Given the description of an element on the screen output the (x, y) to click on. 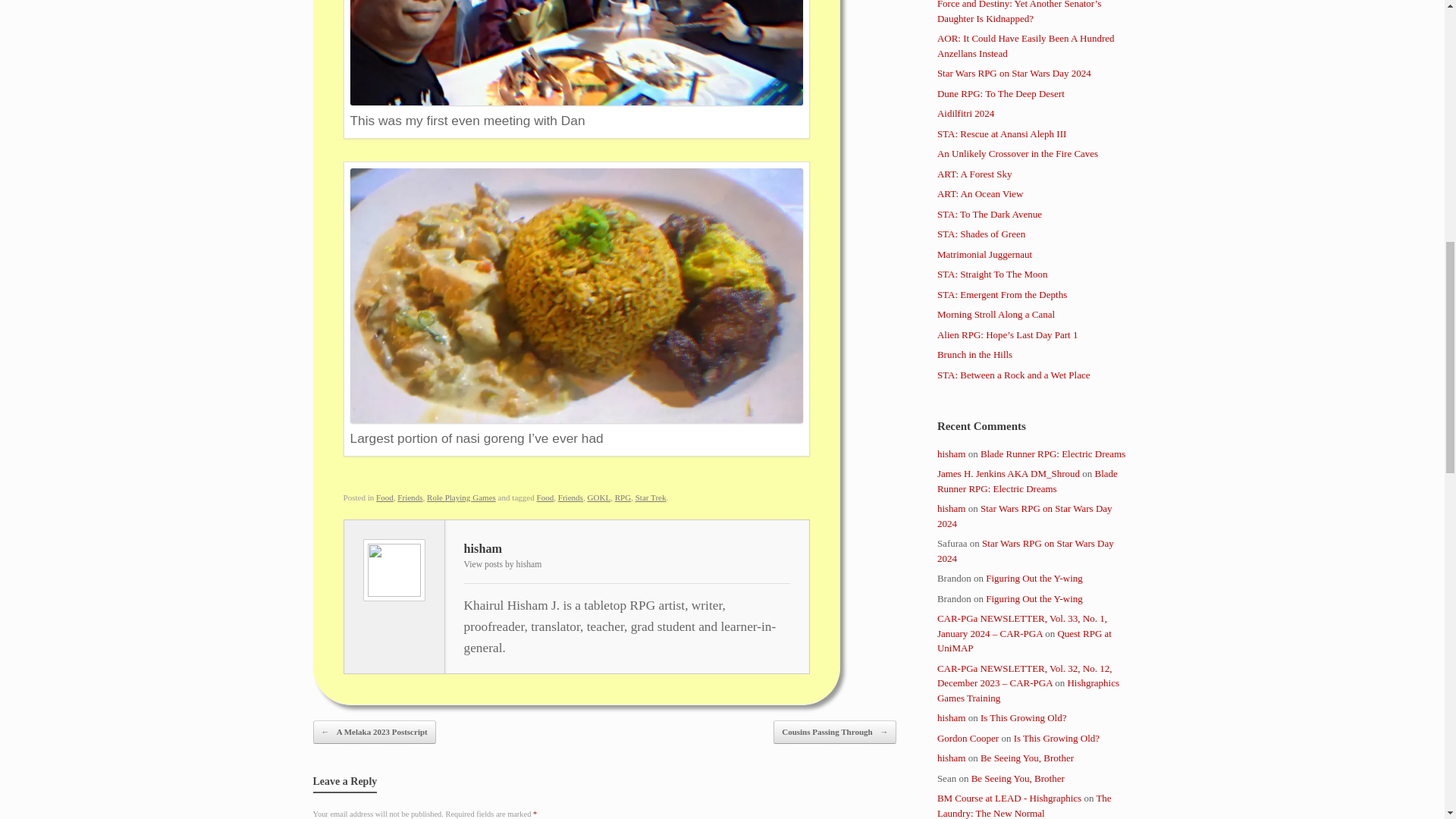
Ivan, Dan and I in PJ (576, 101)
Nasi goreng butter chicken (576, 419)
